Given the description of an element on the screen output the (x, y) to click on. 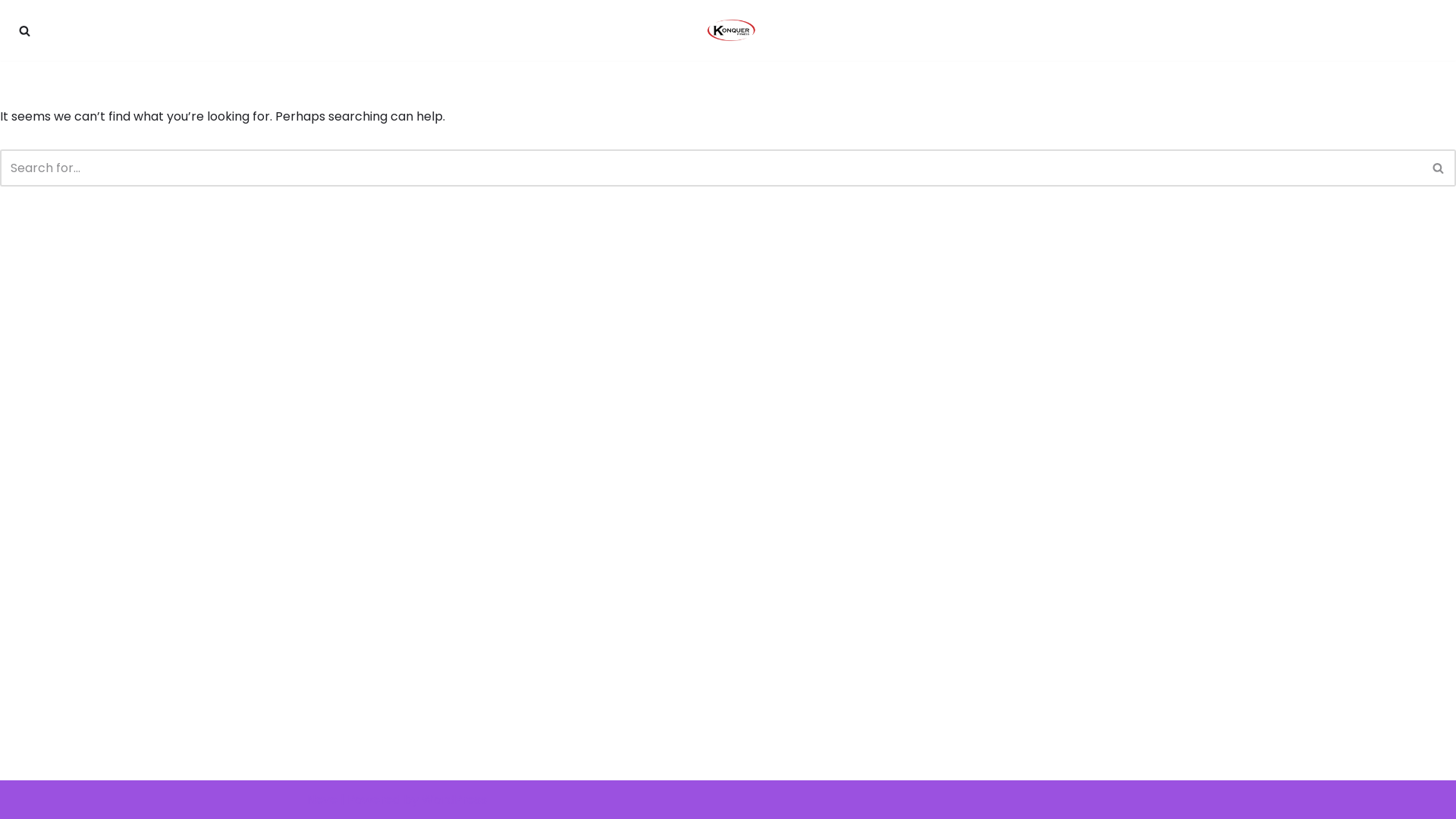
WordPress Element type: text (453, 799)
Neve Element type: text (322, 799)
Skip to content Element type: text (11, 31)
